Given the description of an element on the screen output the (x, y) to click on. 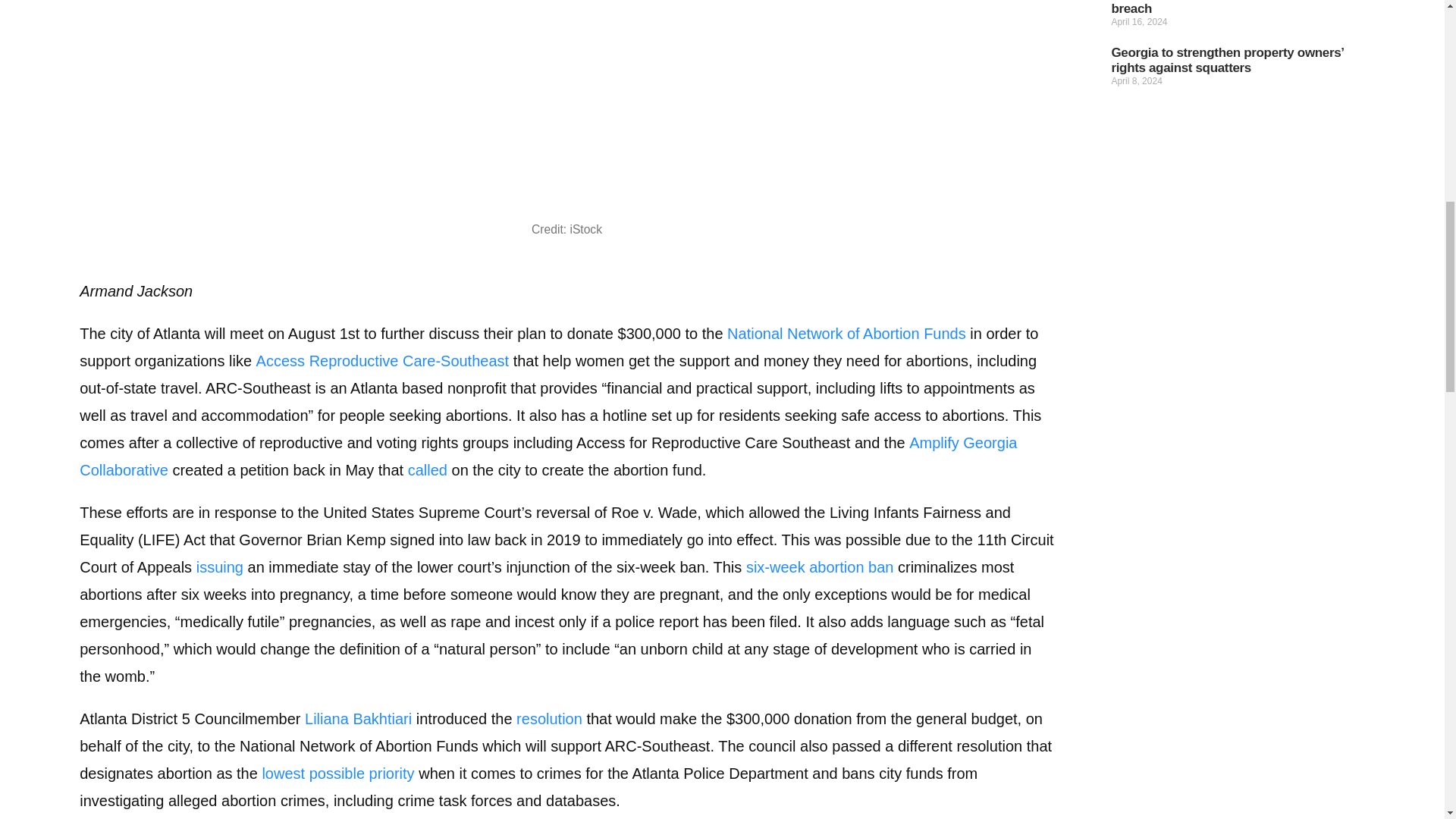
resolution (549, 718)
issuing (219, 566)
six-week abortion ban (819, 566)
lowest possible priority (337, 773)
Liliana Bakhtiari (358, 718)
National Network of Abortion Funds (846, 333)
called (426, 469)
Access Reproductive Care-Southeast (382, 360)
Amplify Georgia Collaborative (548, 456)
